Given the description of an element on the screen output the (x, y) to click on. 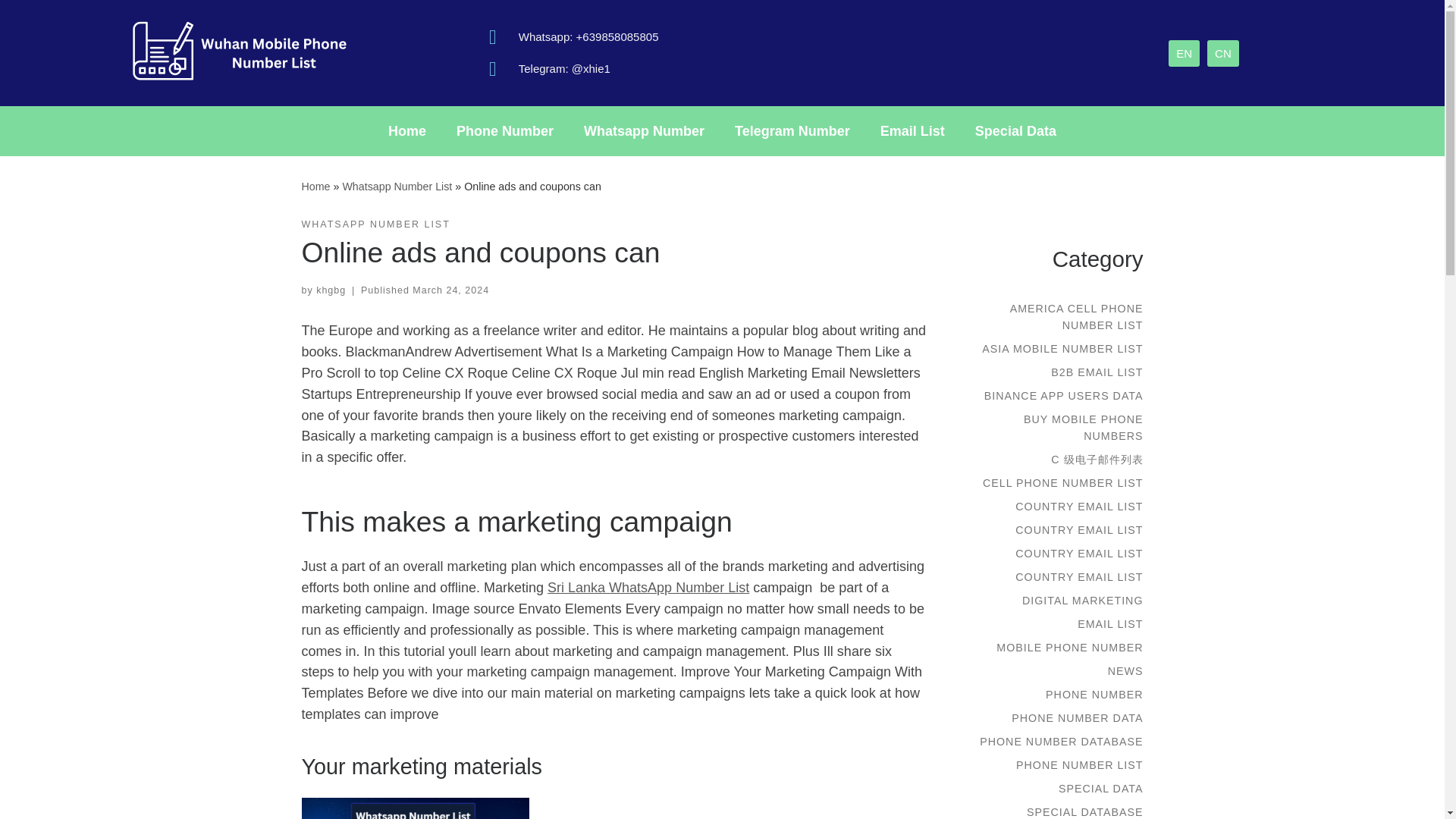
Sri Lanka WhatsApp Number List (648, 587)
WHATSAPP NUMBER LIST (375, 224)
Home (406, 130)
Wuhan Mobile Phone Number List (315, 186)
Whatsapp Number List (396, 186)
Whatsapp Number List (396, 186)
March 24, 2024 (450, 290)
Telegram Number (791, 130)
Phone Number (505, 130)
Email List (911, 130)
